Given the description of an element on the screen output the (x, y) to click on. 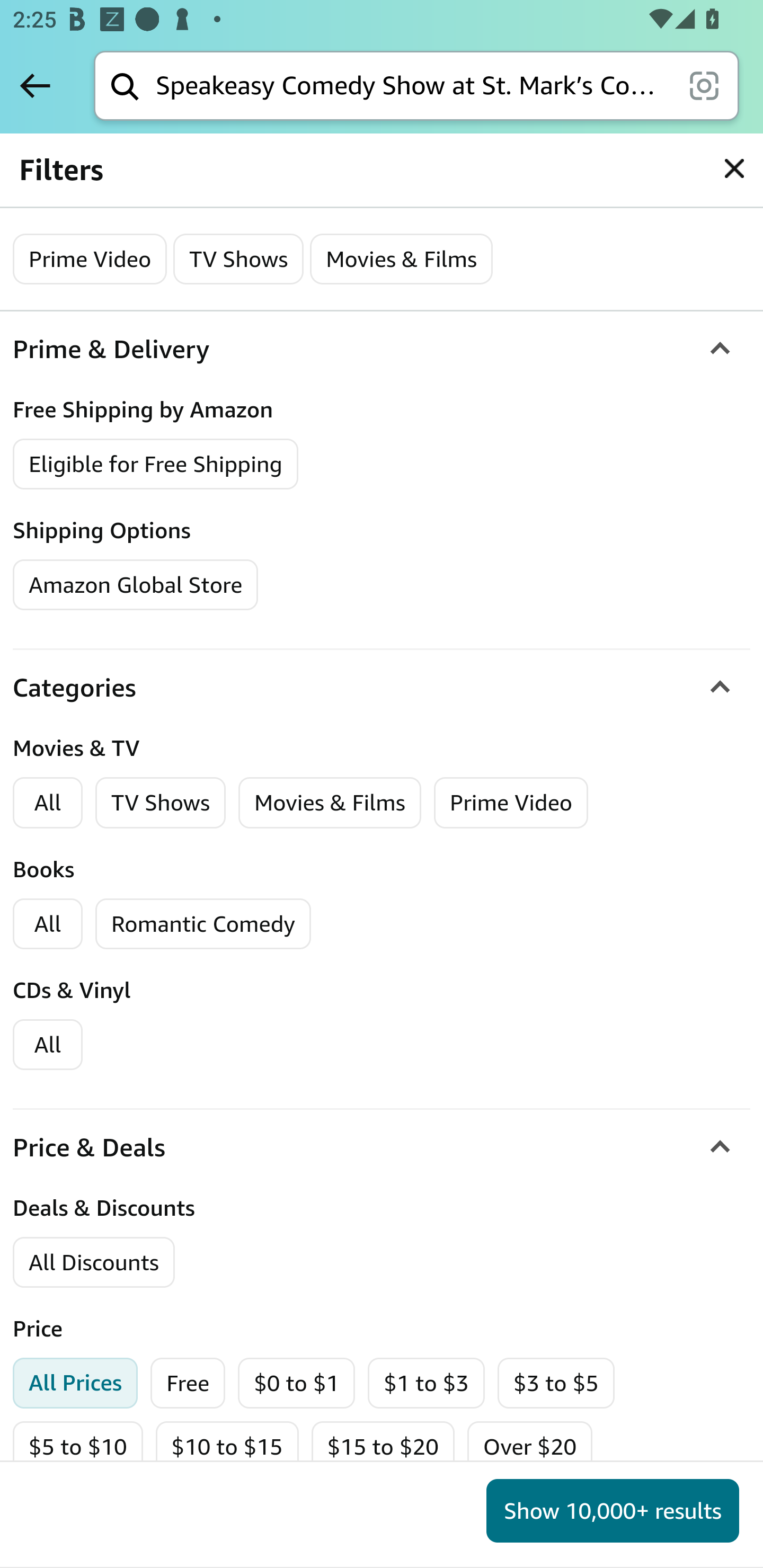
Back (35, 85)
scan it (704, 85)
s?k=Speakeasy+Comedy+Show+at+St (733, 168)
Prime Video (90, 258)
TV Shows (239, 258)
Movies & Films (401, 258)
Eligible for Free Shipping (155, 464)
Amazon Global Store (135, 585)
Categories (381, 688)
All (47, 803)
TV Shows (161, 803)
Movies & Films (329, 803)
Prime Video (510, 803)
All (47, 924)
Romantic Comedy (203, 924)
All (47, 1044)
Price & Deals (381, 1147)
All Discounts (93, 1262)
Free (187, 1383)
$0 to $1 (296, 1383)
$1 to $3 (426, 1383)
$3 to $5 (555, 1383)
$5 to $10 (77, 1446)
$10 to $15 (226, 1446)
$15 to $20 (381, 1446)
Over $20 (528, 1446)
Show 10,000+ results (612, 1510)
